Given the description of an element on the screen output the (x, y) to click on. 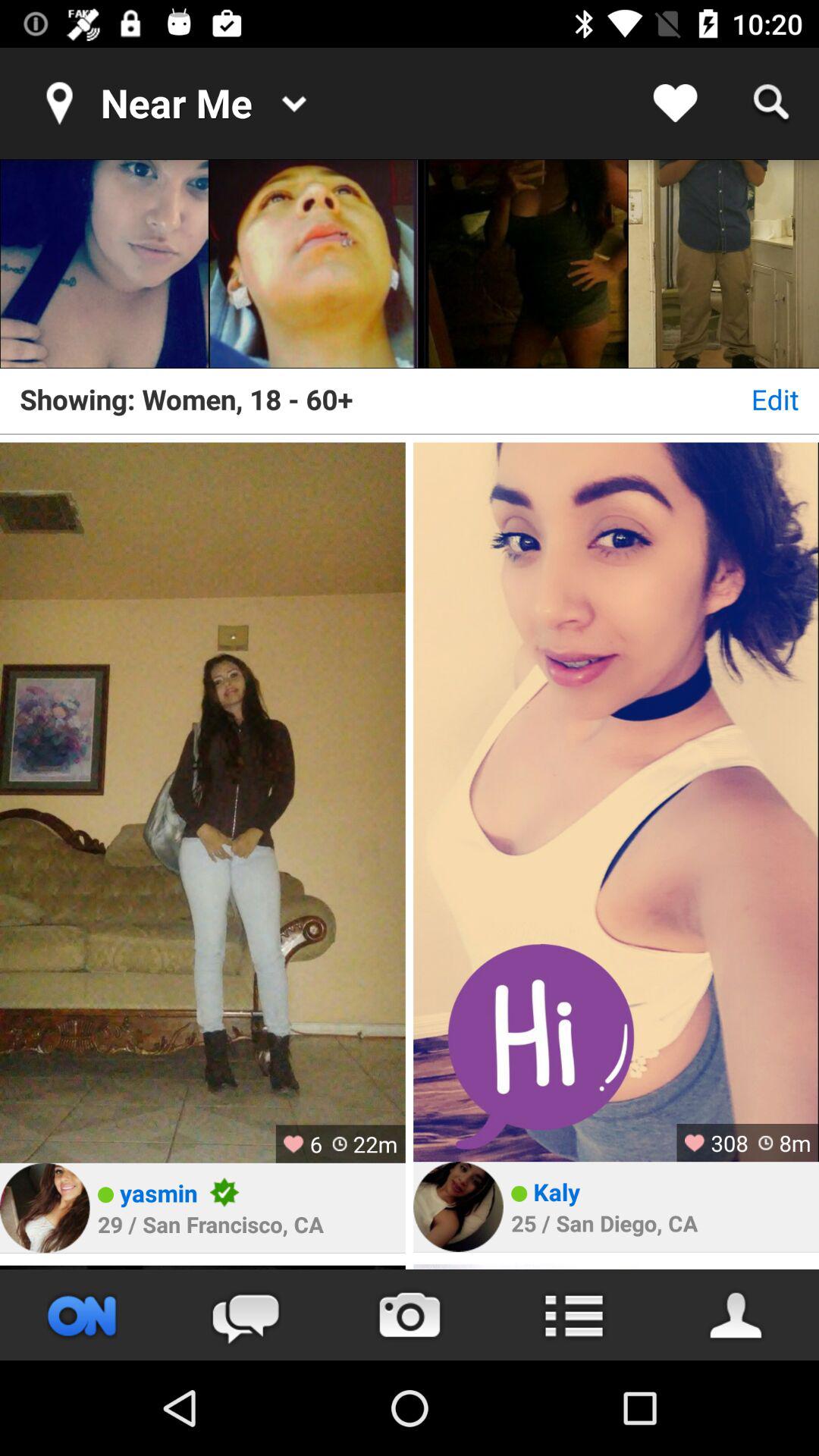
tap item above the 25 san diego (556, 1191)
